Given the description of an element on the screen output the (x, y) to click on. 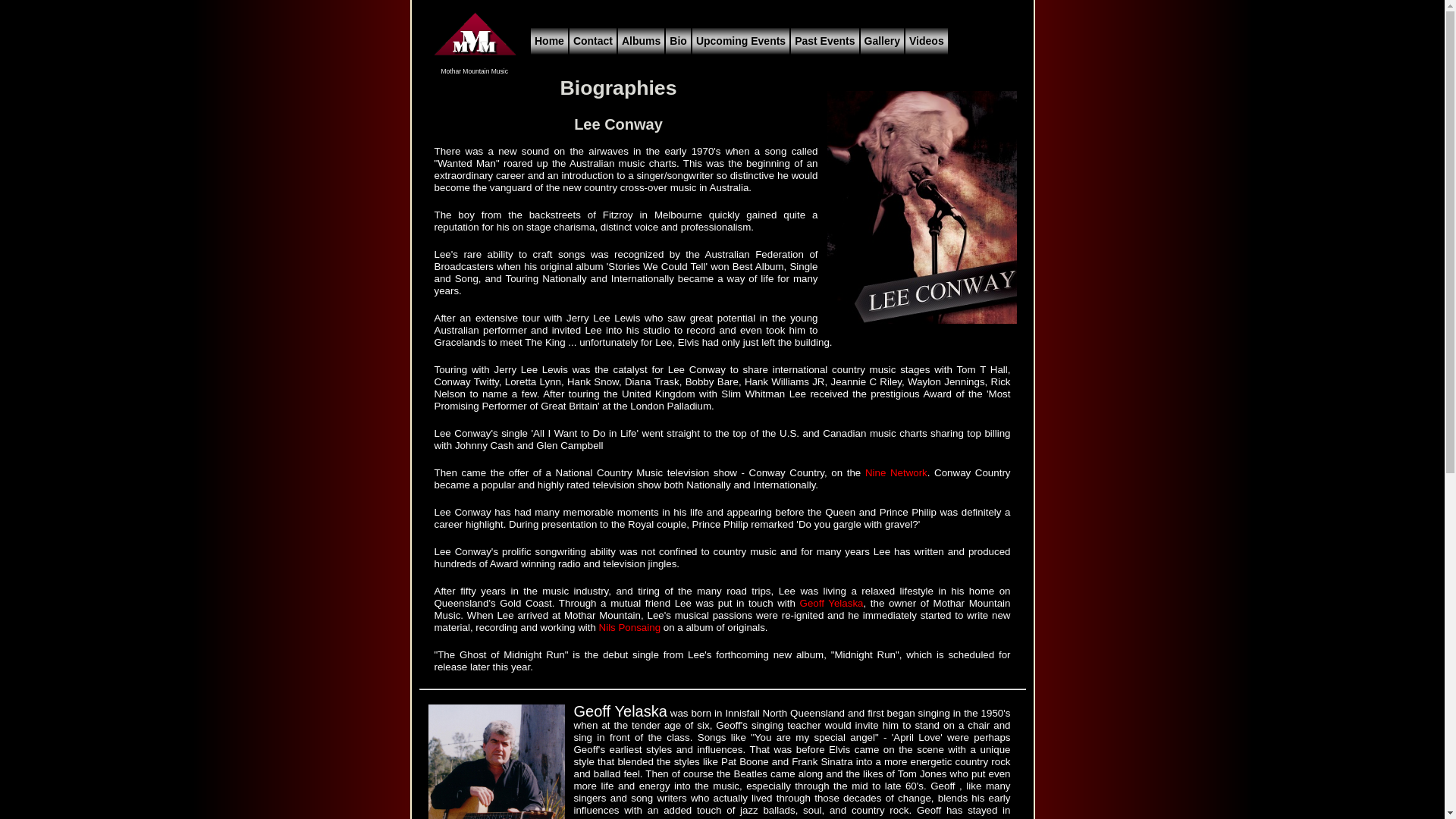
Nils Ponsaing Element type: text (630, 627)
Mothar Mountain Music Element type: text (473, 66)
Albums Element type: text (641, 40)
Home Element type: text (549, 40)
Upcoming Events Element type: text (740, 40)
Contact Element type: text (592, 40)
Bio Element type: text (678, 40)
Videos Element type: text (926, 40)
Geoff Yelaska Element type: text (831, 602)
Gallery Element type: text (881, 40)
Nine Network Element type: text (896, 472)
Past Events Element type: text (824, 40)
